Given the description of an element on the screen output the (x, y) to click on. 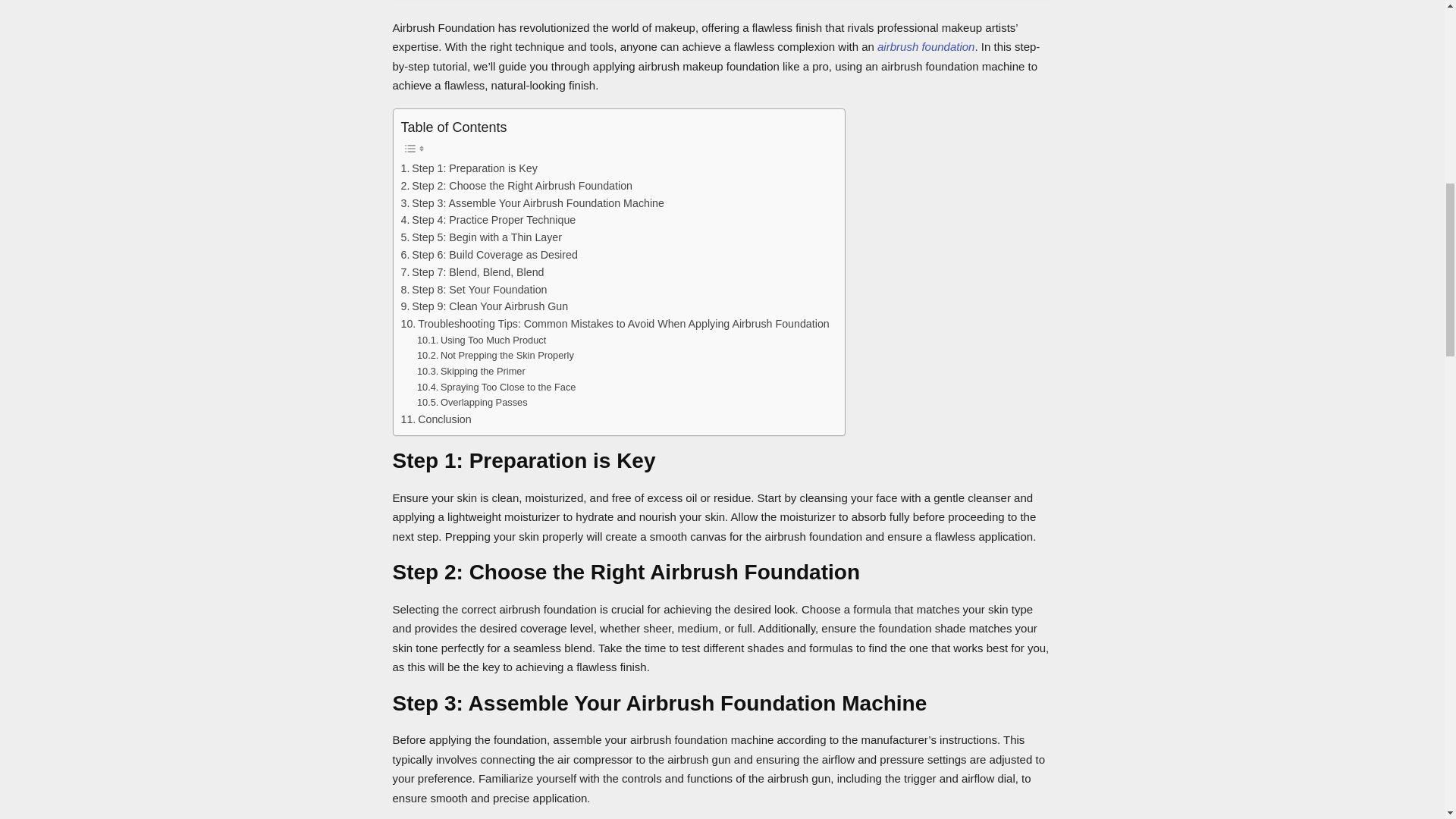
Step 1: Preparation is Key (468, 168)
Step 1: Preparation is Key (468, 168)
Step 8: Set Your Foundation (473, 289)
Step 6: Build Coverage as Desired (488, 254)
Step 4: Practice Proper Technique (487, 220)
Using Too Much Product (481, 340)
Step 7: Blend, Blend, Blend (471, 272)
Step 6: Build Coverage as Desired (488, 254)
Step 3: Assemble Your Airbrush Foundation Machine (531, 203)
Step 5: Begin with a Thin Layer (481, 237)
Step 8: Set Your Foundation (473, 289)
Step 5: Begin with a Thin Layer (481, 237)
Step 7: Blend, Blend, Blend (471, 272)
Step 2: Choose the Right Airbrush Foundation (515, 185)
